Given the description of an element on the screen output the (x, y) to click on. 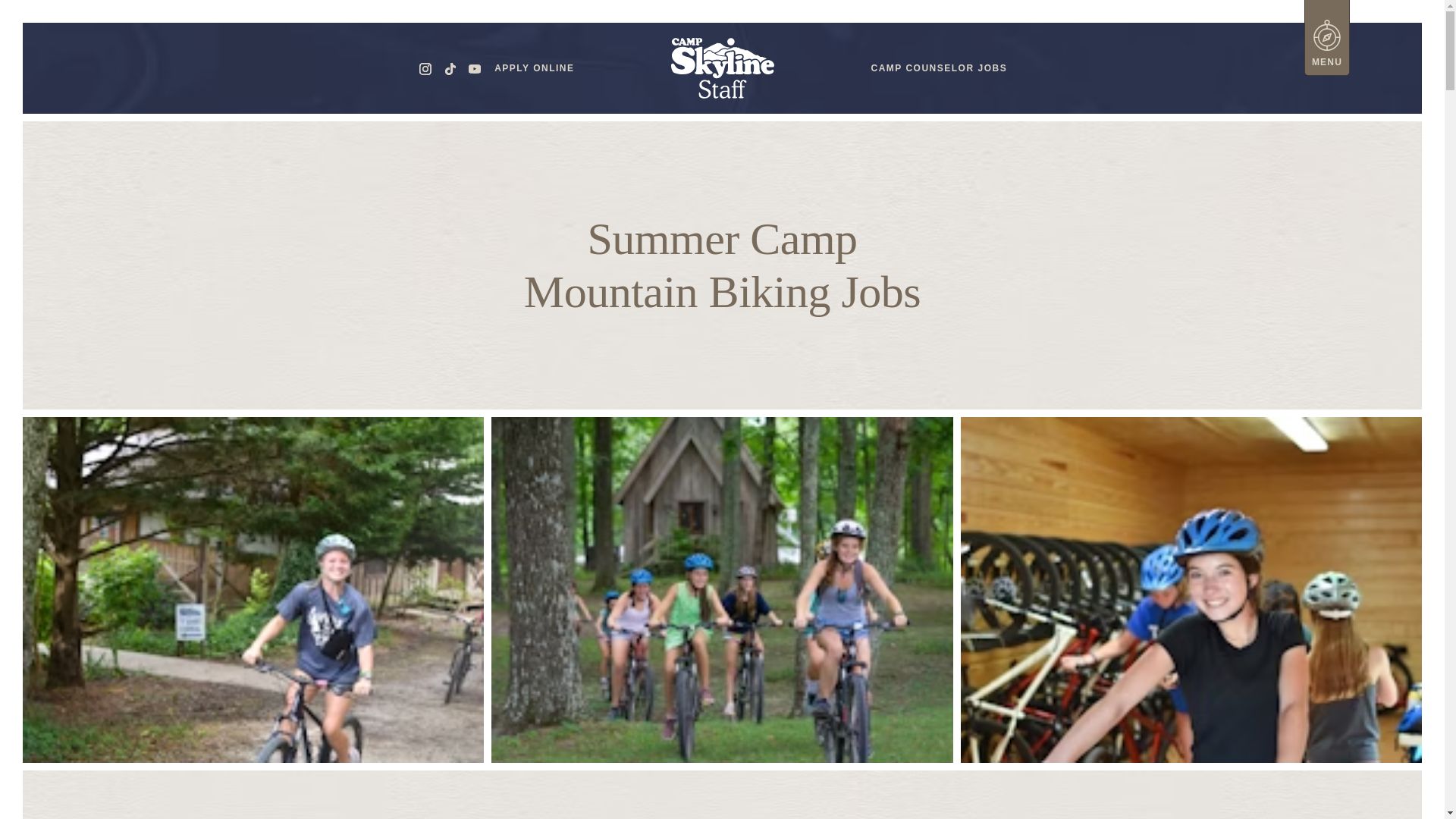
APPLY ONLINE (534, 68)
CAMP COUNSELOR JOBS (938, 68)
